Given the description of an element on the screen output the (x, y) to click on. 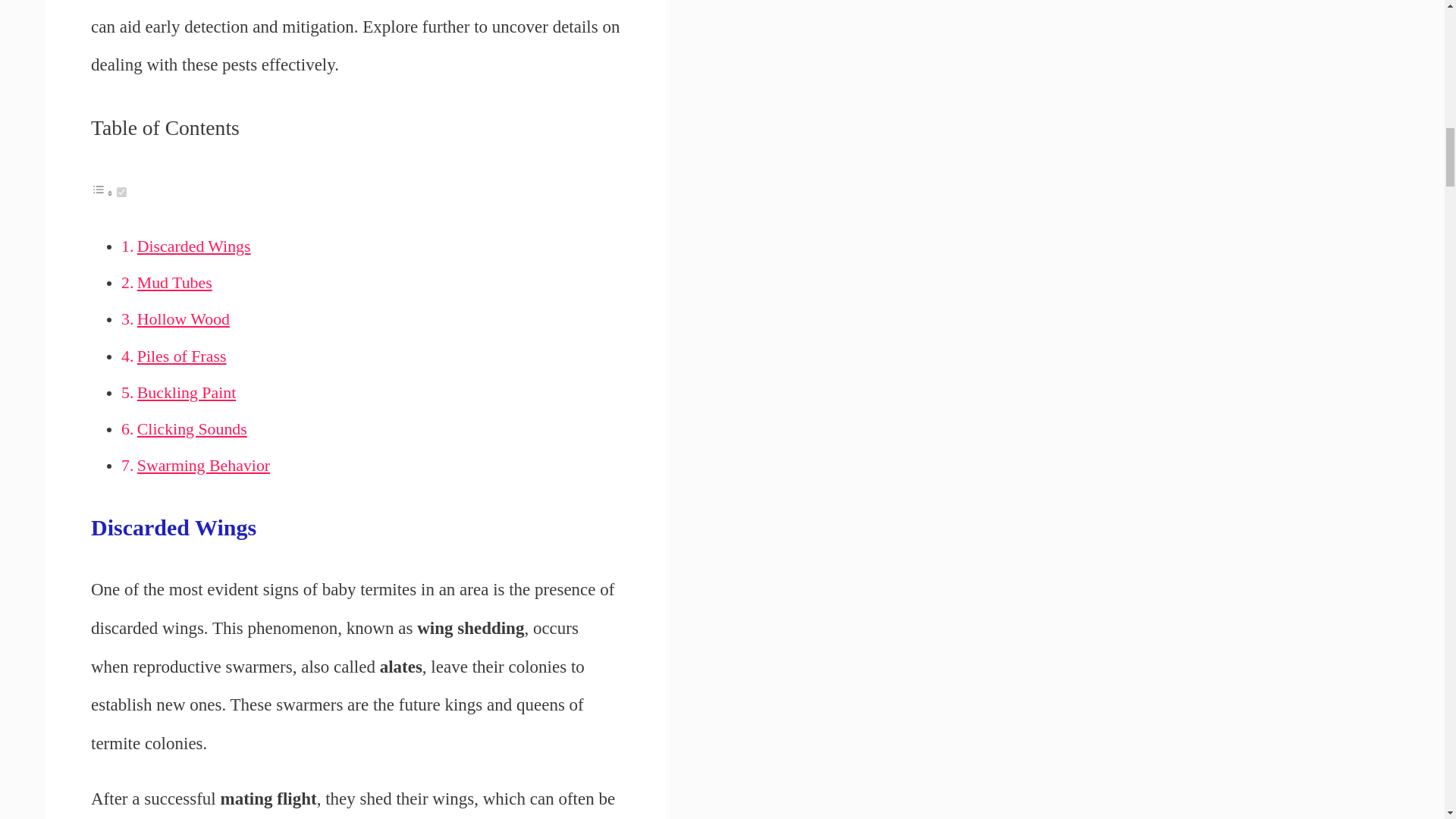
Piles of Frass (181, 356)
Swarming Behavior (202, 465)
Discarded Wings (193, 246)
Swarming Behavior (202, 465)
Mud Tubes (174, 282)
Clicking Sounds (191, 429)
Buckling Paint (185, 393)
Clicking Sounds (191, 429)
on (121, 192)
Piles of Frass (181, 356)
Buckling Paint (185, 393)
Hollow Wood (183, 319)
Mud Tubes (174, 282)
Hollow Wood (183, 319)
Discarded Wings (193, 246)
